Given the description of an element on the screen output the (x, y) to click on. 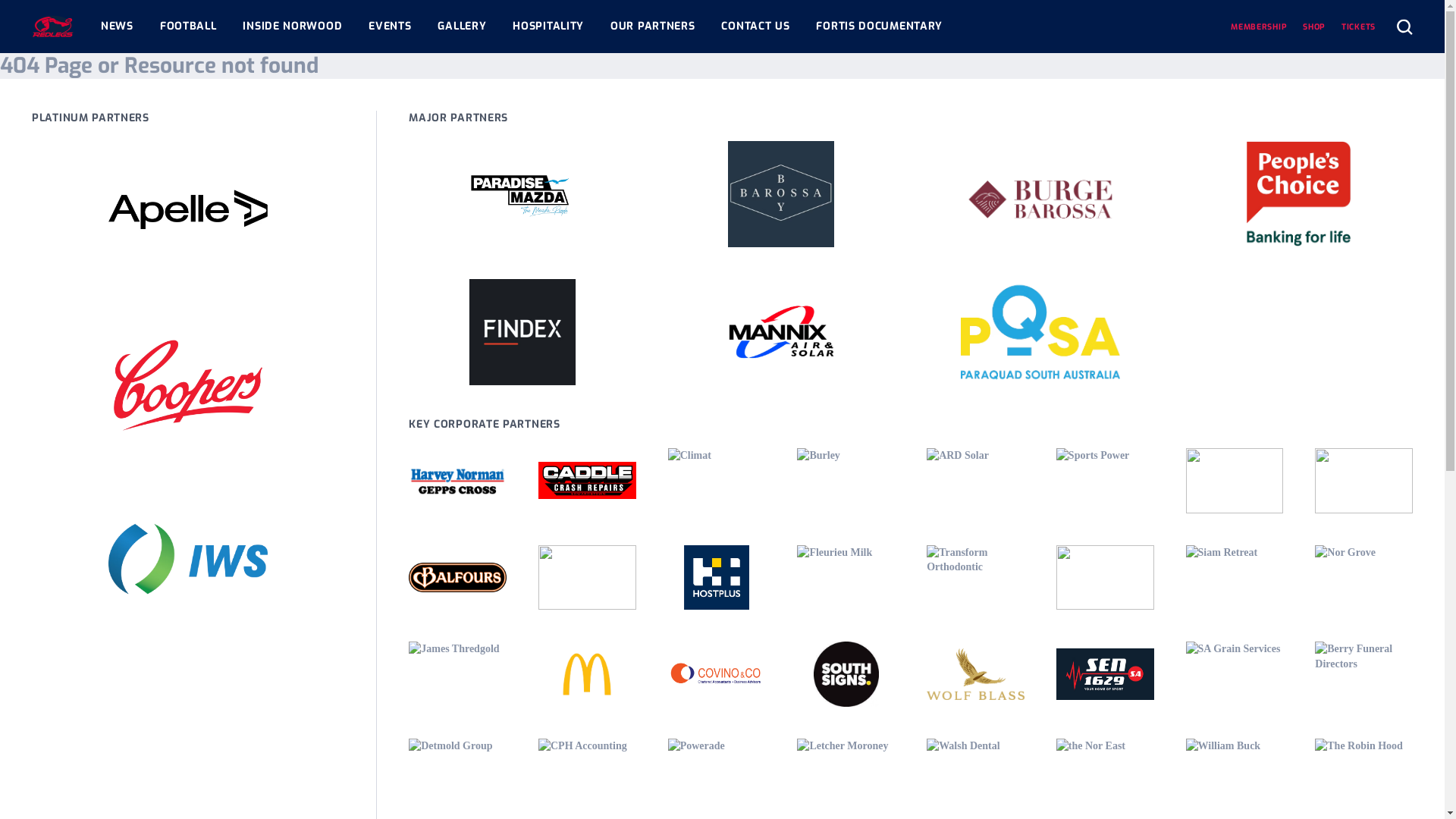
Norwood Football Club Element type: text (52, 26)
FOOTBALL Element type: text (188, 26)
EVENTS Element type: text (389, 26)
FORTIS DOCUMENTARY Element type: text (878, 26)
NEWS Element type: text (116, 26)
TICKETS Element type: text (1358, 26)
CONTACT US Element type: text (755, 26)
SHOP Element type: text (1313, 26)
GALLERY Element type: text (461, 26)
OUR PARTNERS Element type: text (652, 26)
Search Element type: text (1404, 26)
MEMBERSHIP Element type: text (1258, 26)
HOSPITALITY Element type: text (547, 26)
INSIDE NORWOOD Element type: text (292, 26)
